Given the description of an element on the screen output the (x, y) to click on. 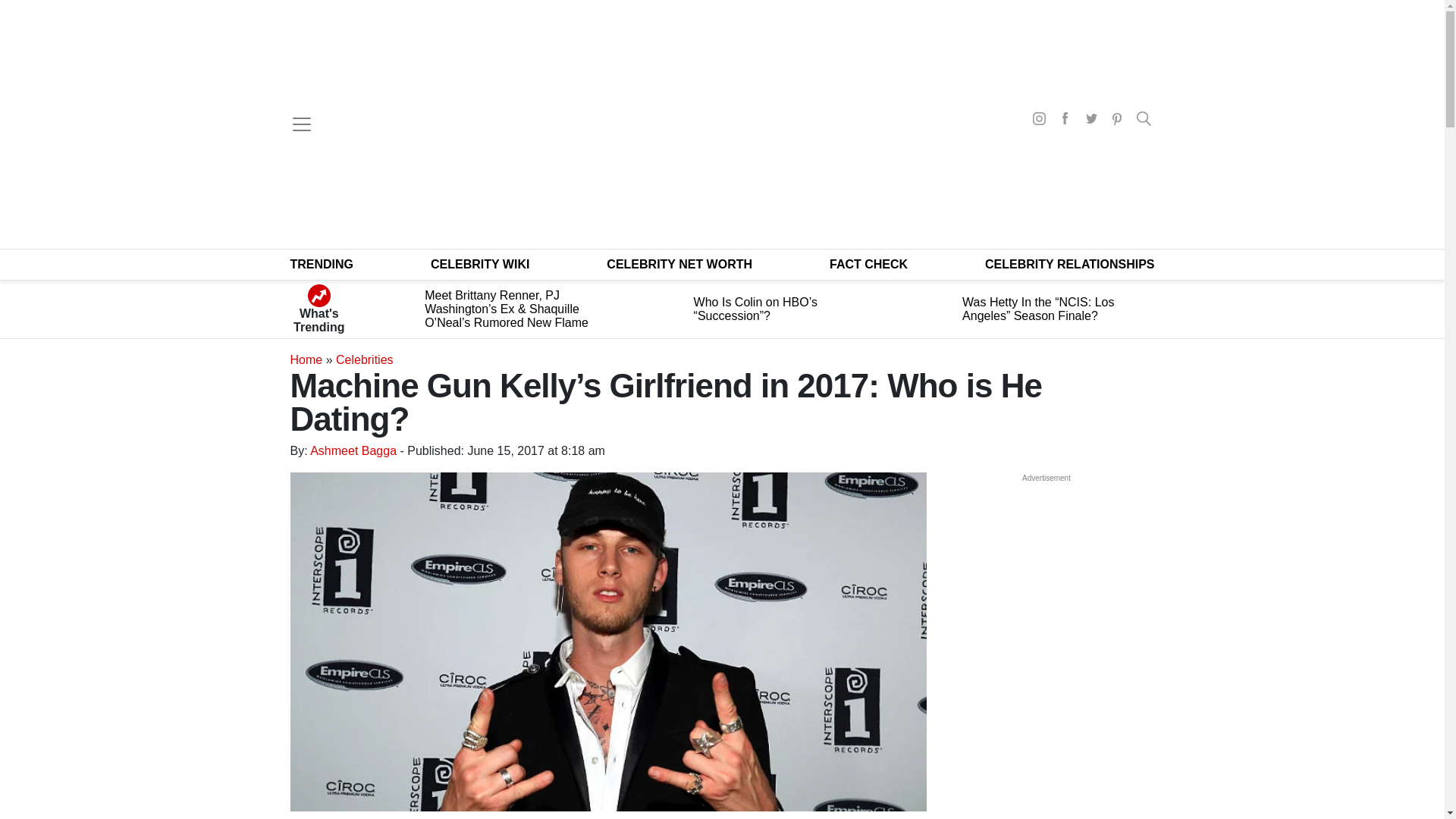
Celebrities (364, 359)
CELEBRITY NET WORTH (679, 264)
Home (305, 359)
Posts by Ashmeet Bagga (353, 450)
Menu (301, 124)
FACT CHECK (868, 264)
TRENDING (321, 264)
CELEBRITY WIKI (479, 264)
CELEBRITY RELATIONSHIPS (1069, 264)
Ashmeet Bagga (353, 450)
